Given the description of an element on the screen output the (x, y) to click on. 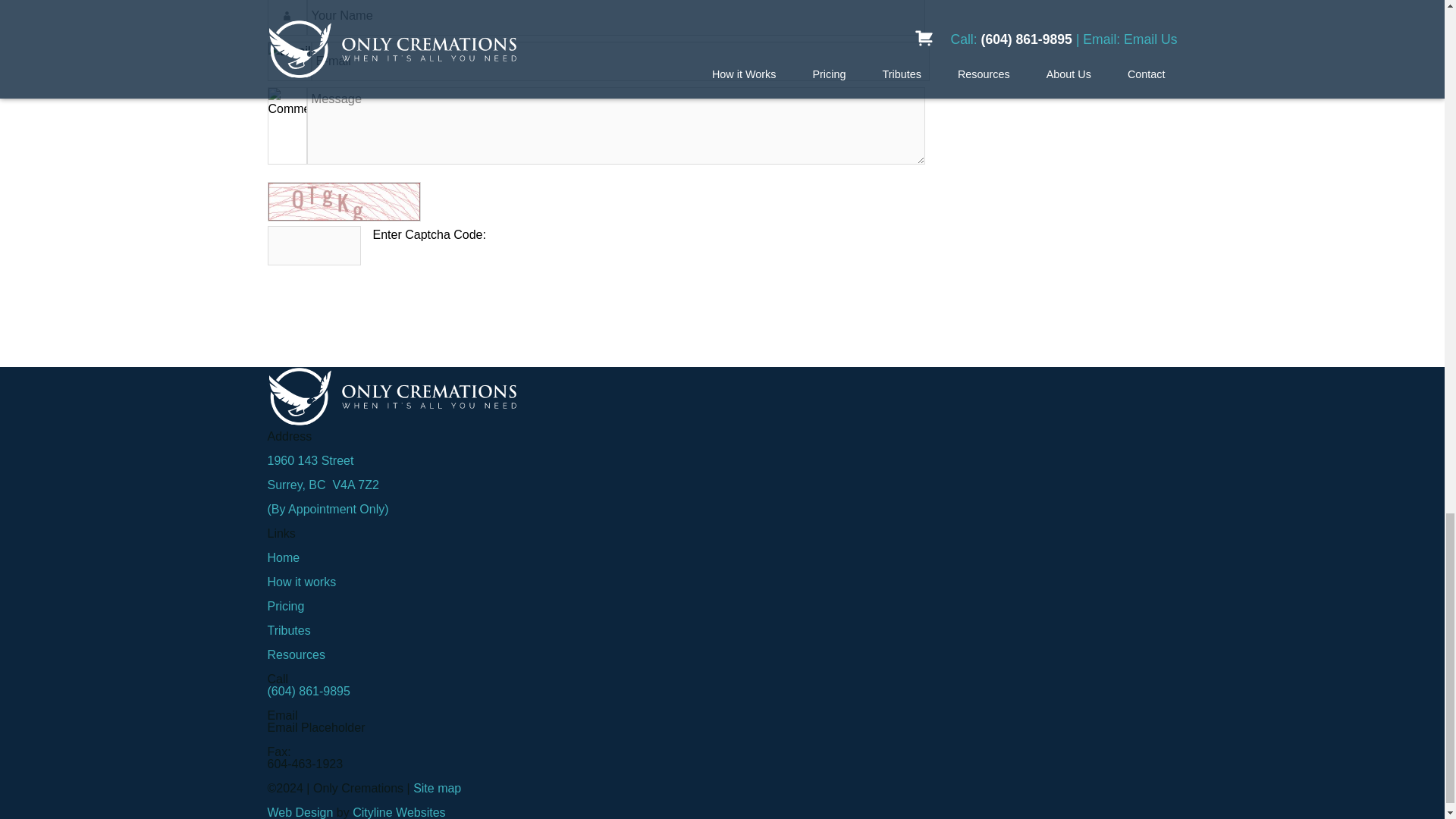
Site map (437, 788)
Email (620, 61)
Name (614, 18)
Tributes (288, 630)
How it works (301, 581)
Pricing (285, 605)
Home (282, 557)
Resources (295, 654)
